Given the description of an element on the screen output the (x, y) to click on. 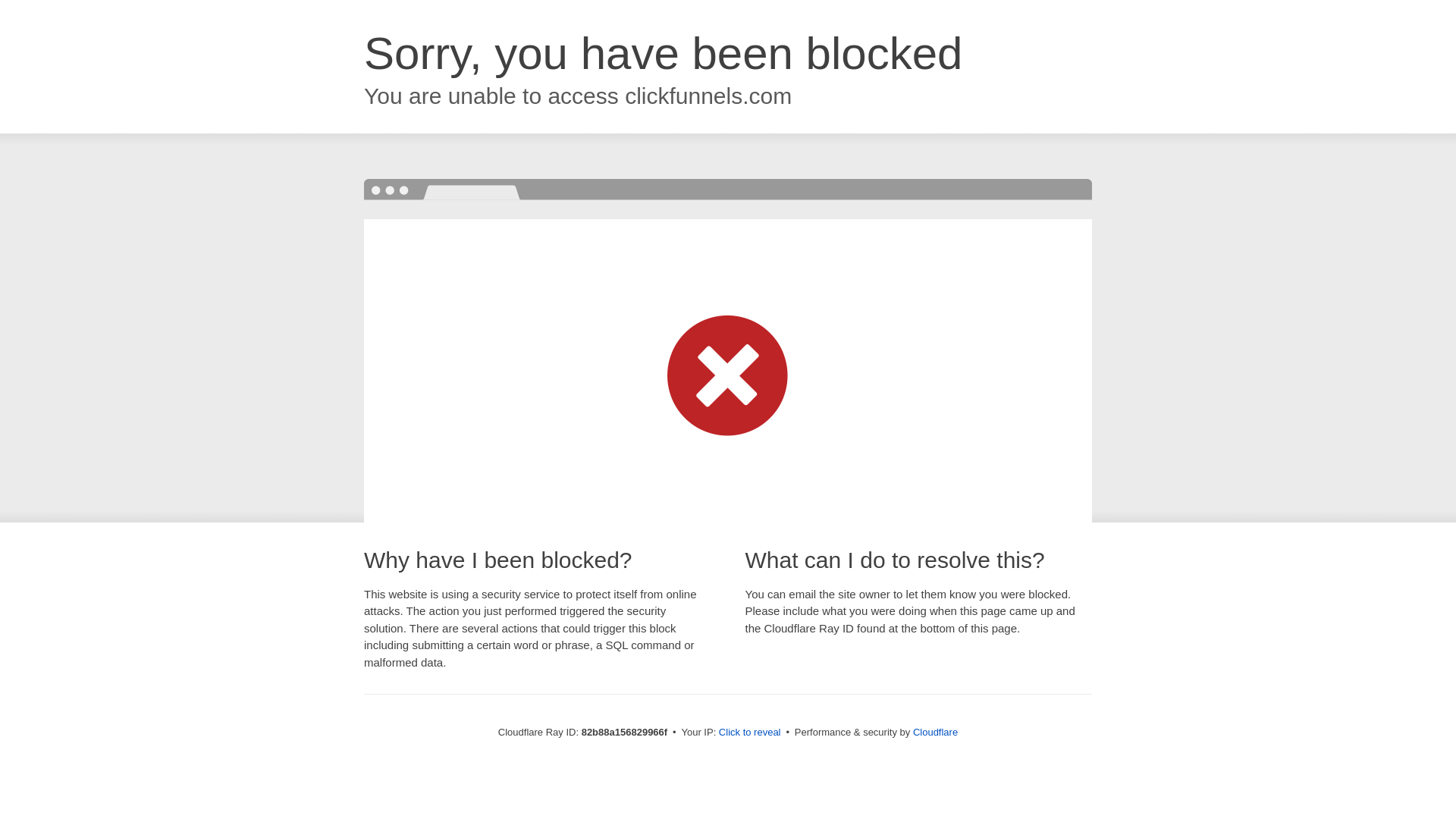
Click to reveal Element type: text (749, 732)
Cloudflare Element type: text (935, 731)
